Given the description of an element on the screen output the (x, y) to click on. 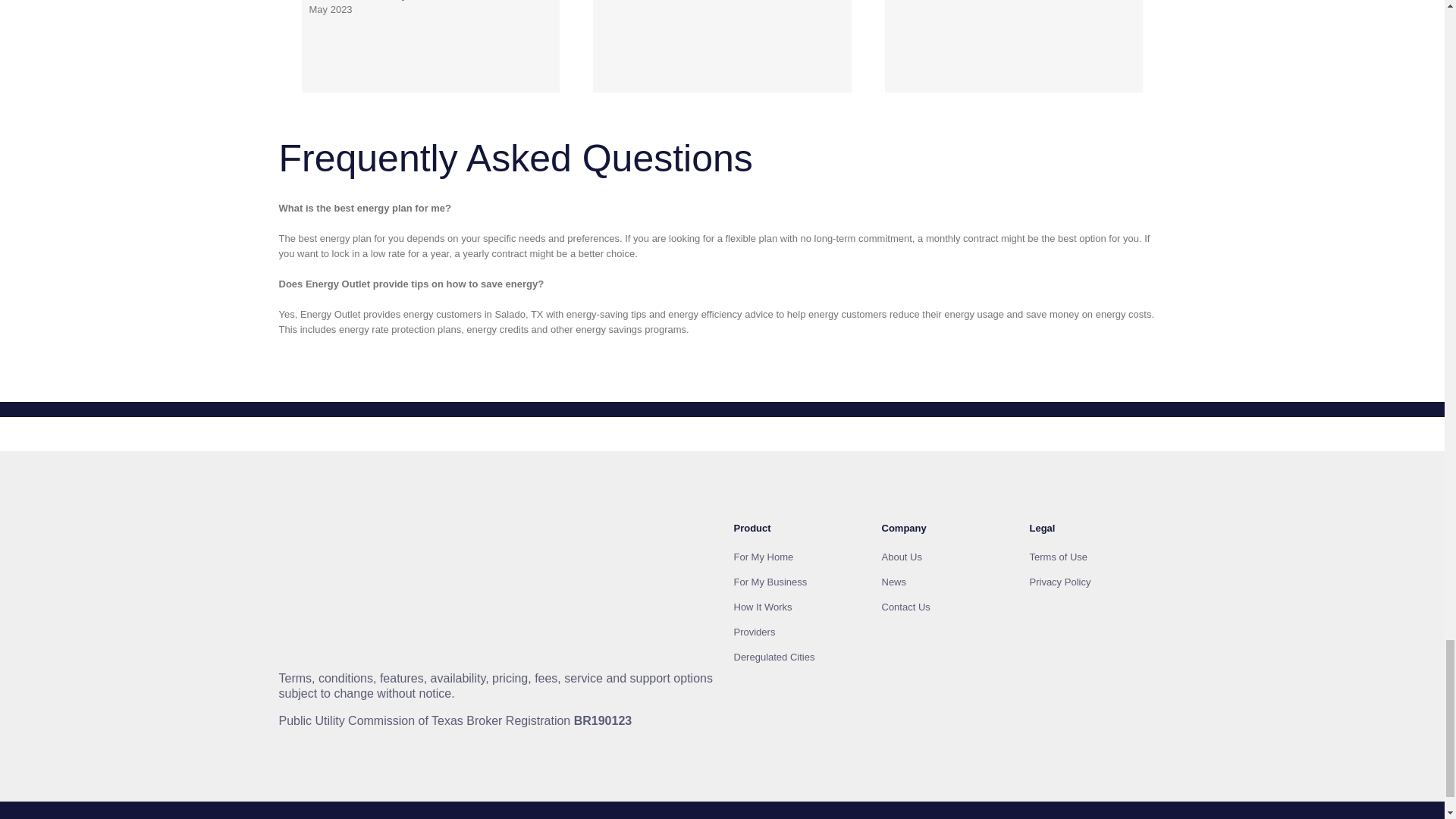
Discount Energy Plans (360, 534)
